Given the description of an element on the screen output the (x, y) to click on. 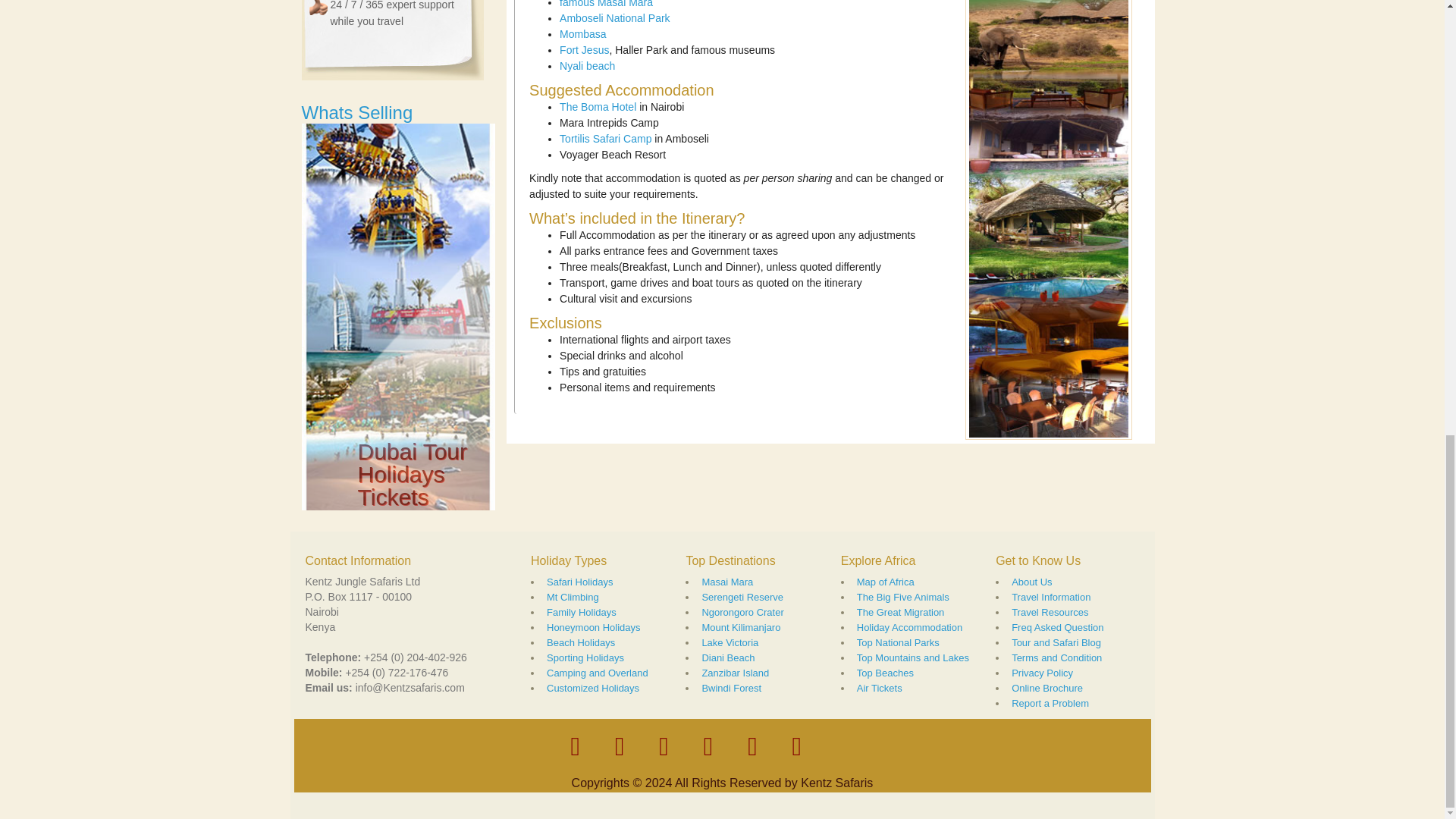
About Masai Mara National park (605, 4)
About The Boma Hotel (597, 106)
About Mombasa City  (582, 33)
About Nyali beach (586, 65)
About Amboseli National Park  (614, 18)
About Tortilis Safari Camp (604, 138)
About Fort Jesus (583, 50)
